Given the description of an element on the screen output the (x, y) to click on. 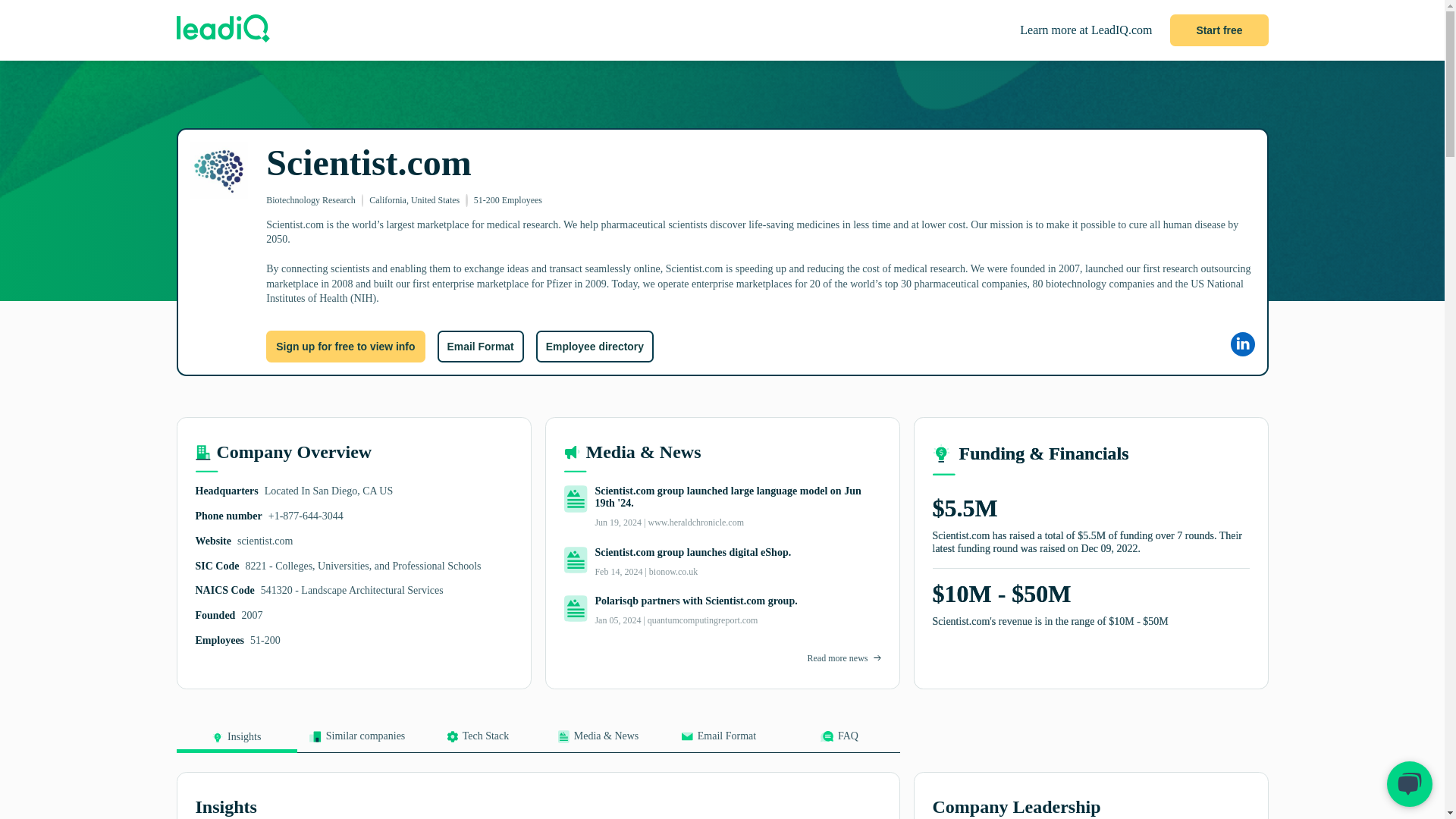
Learn more at LeadIQ.com (1085, 29)
Email Format (718, 740)
Sign up for free to view info (345, 346)
FAQ (838, 740)
Email Format (479, 346)
Similar companies (357, 740)
Start free (1219, 29)
Employee directory (594, 346)
Tech Stack (476, 740)
Insights (236, 741)
